Given the description of an element on the screen output the (x, y) to click on. 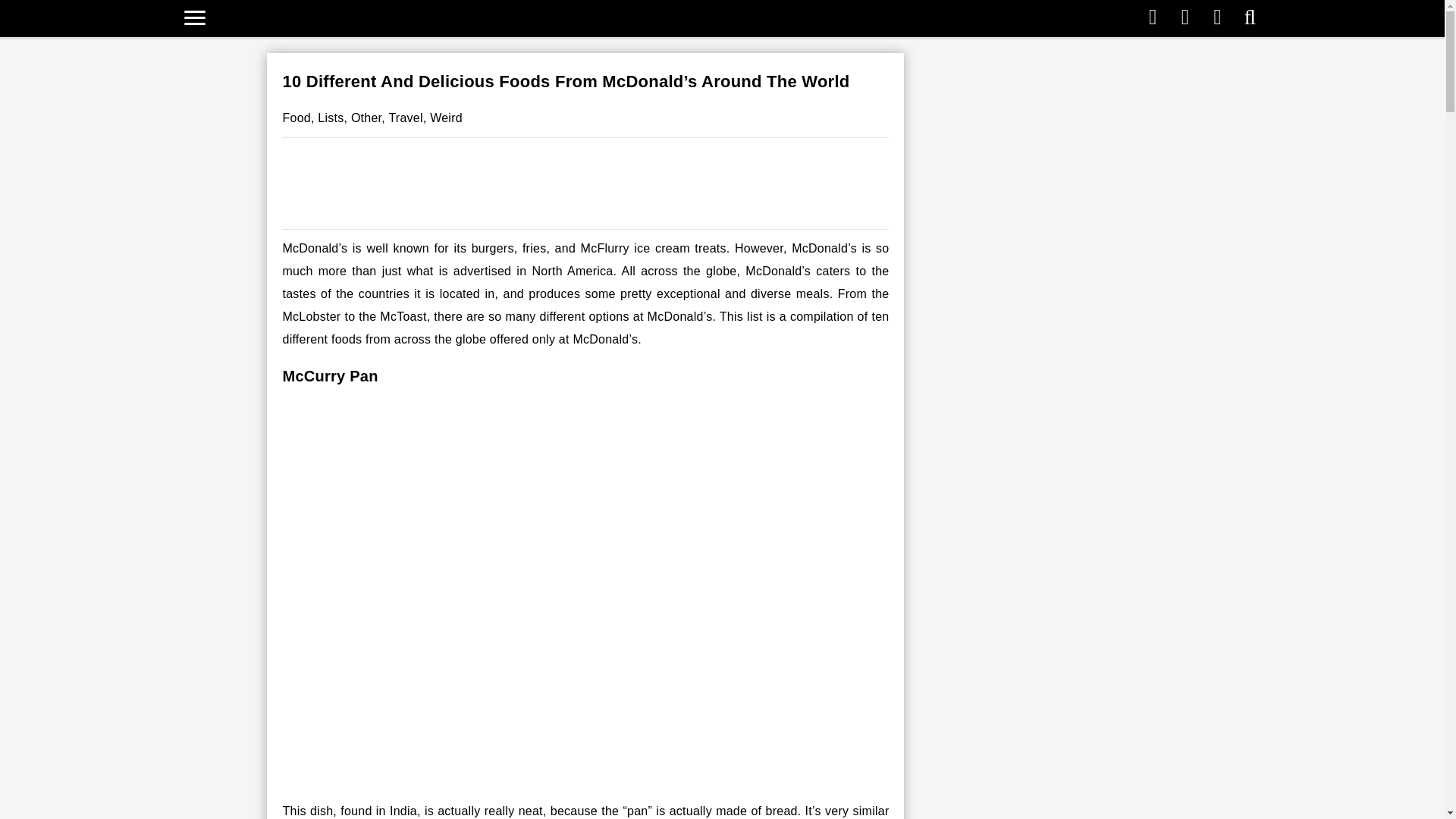
LOLWOT (715, 16)
